Given the description of an element on the screen output the (x, y) to click on. 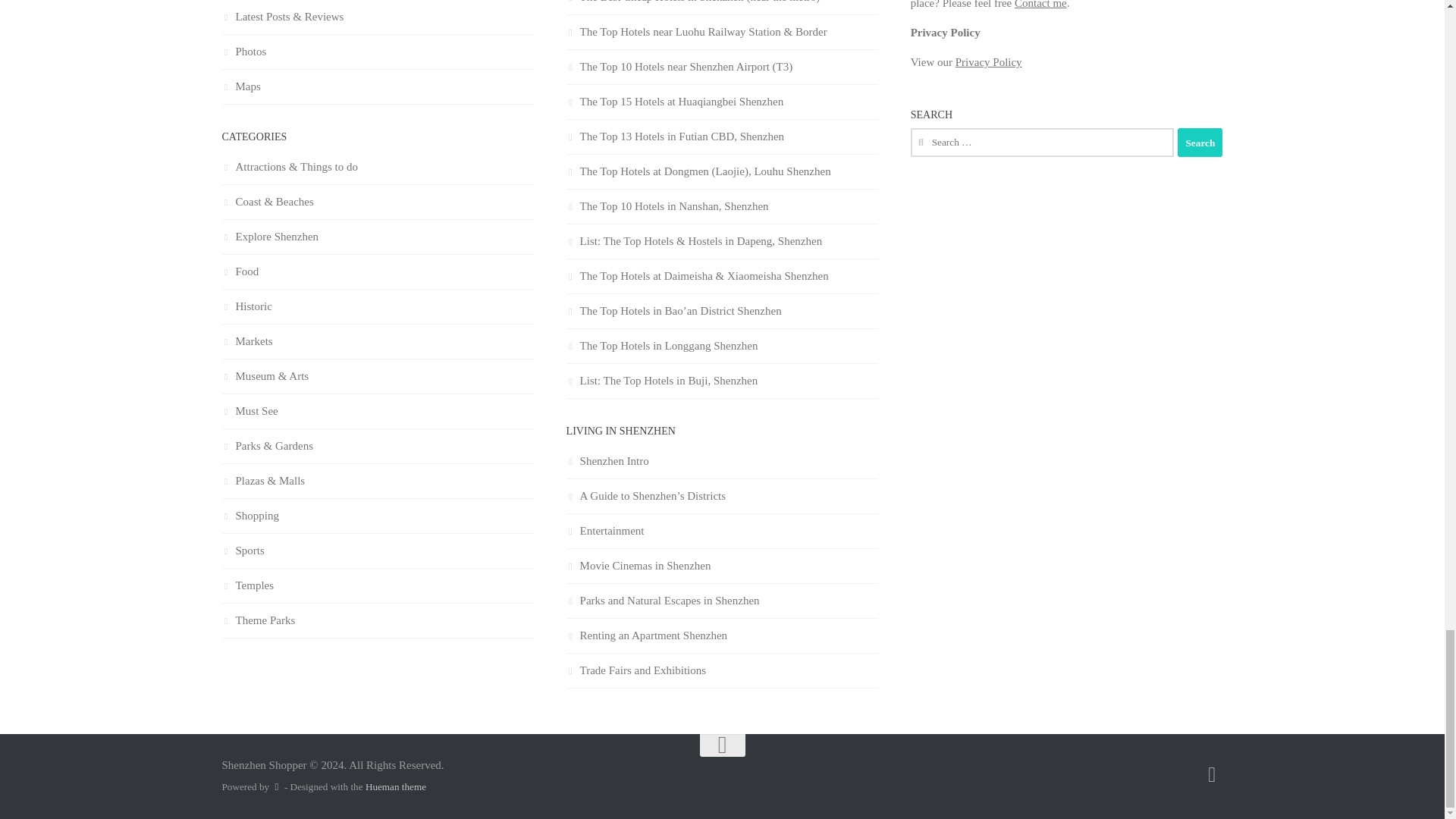
Search (1200, 142)
Search (1200, 142)
